Given the description of an element on the screen output the (x, y) to click on. 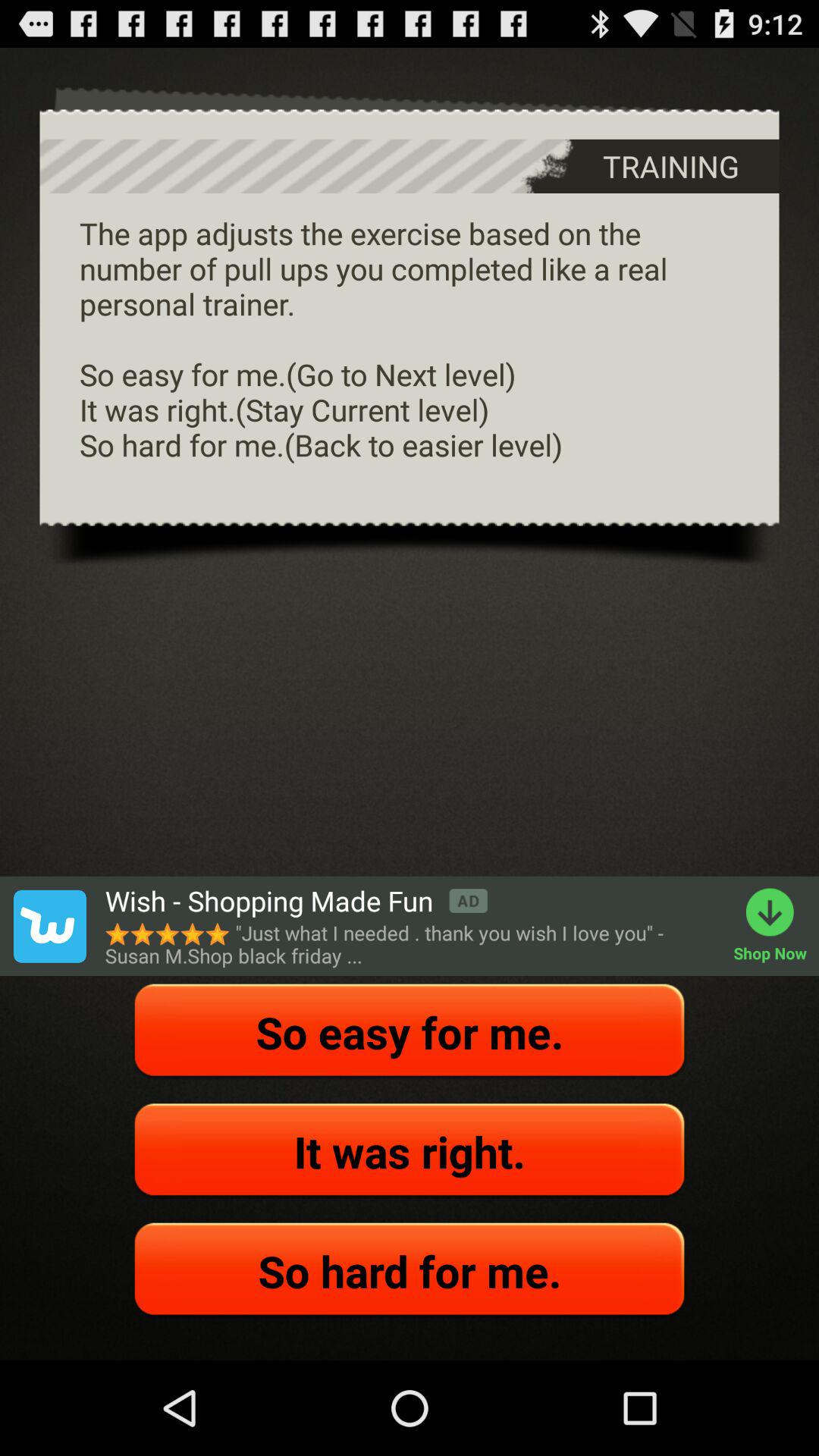
scroll to the wish shopping made (296, 900)
